Given the description of an element on the screen output the (x, y) to click on. 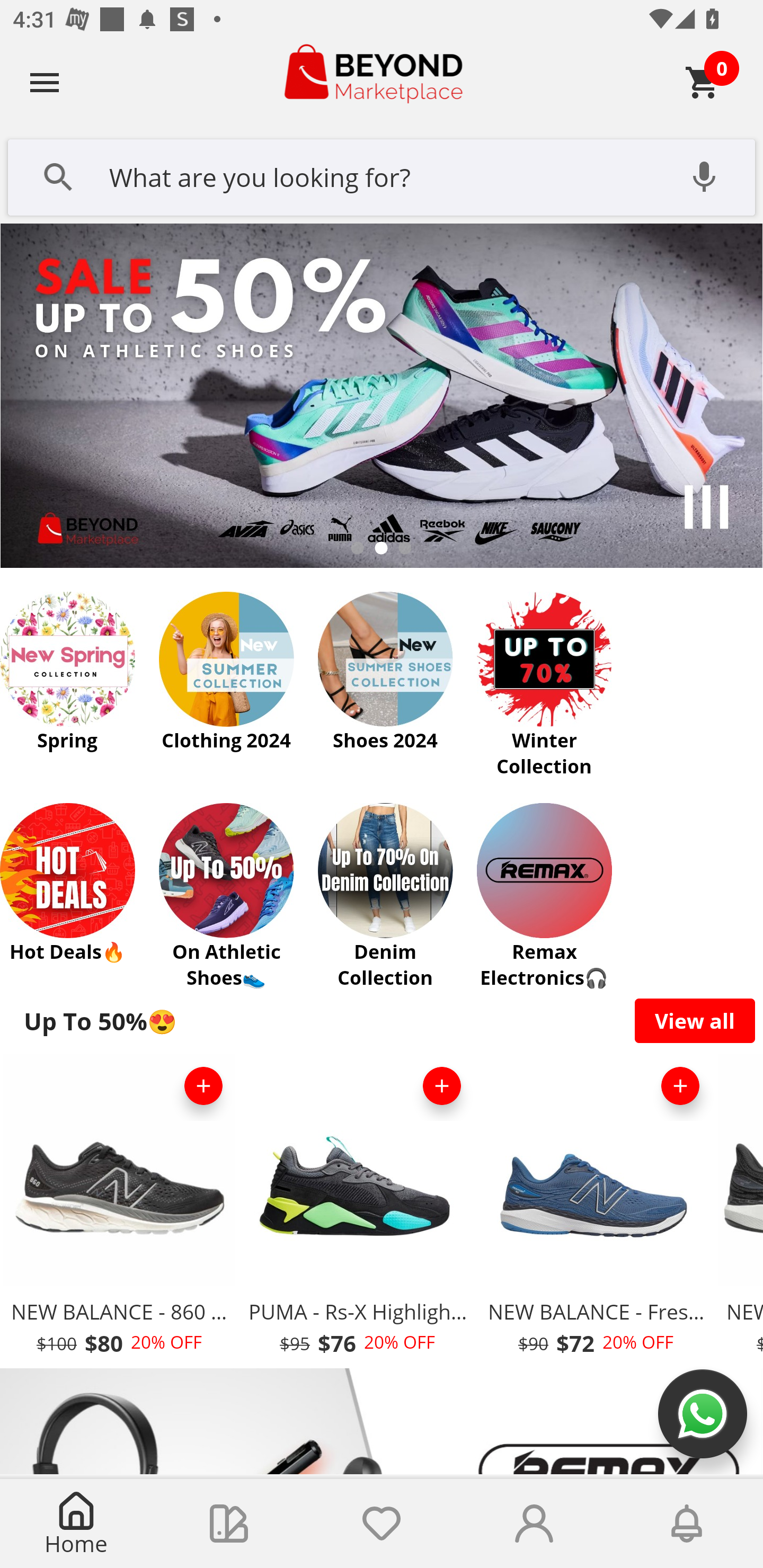
Navigate up (44, 82)
What are you looking for? (381, 175)
View all (694, 1020)
NEW BALANCE - 860 Running Shoes $100 $80 20% OFF (119, 1209)
Collections (228, 1523)
Wishlist (381, 1523)
Account (533, 1523)
Notifications (686, 1523)
